Given the description of an element on the screen output the (x, y) to click on. 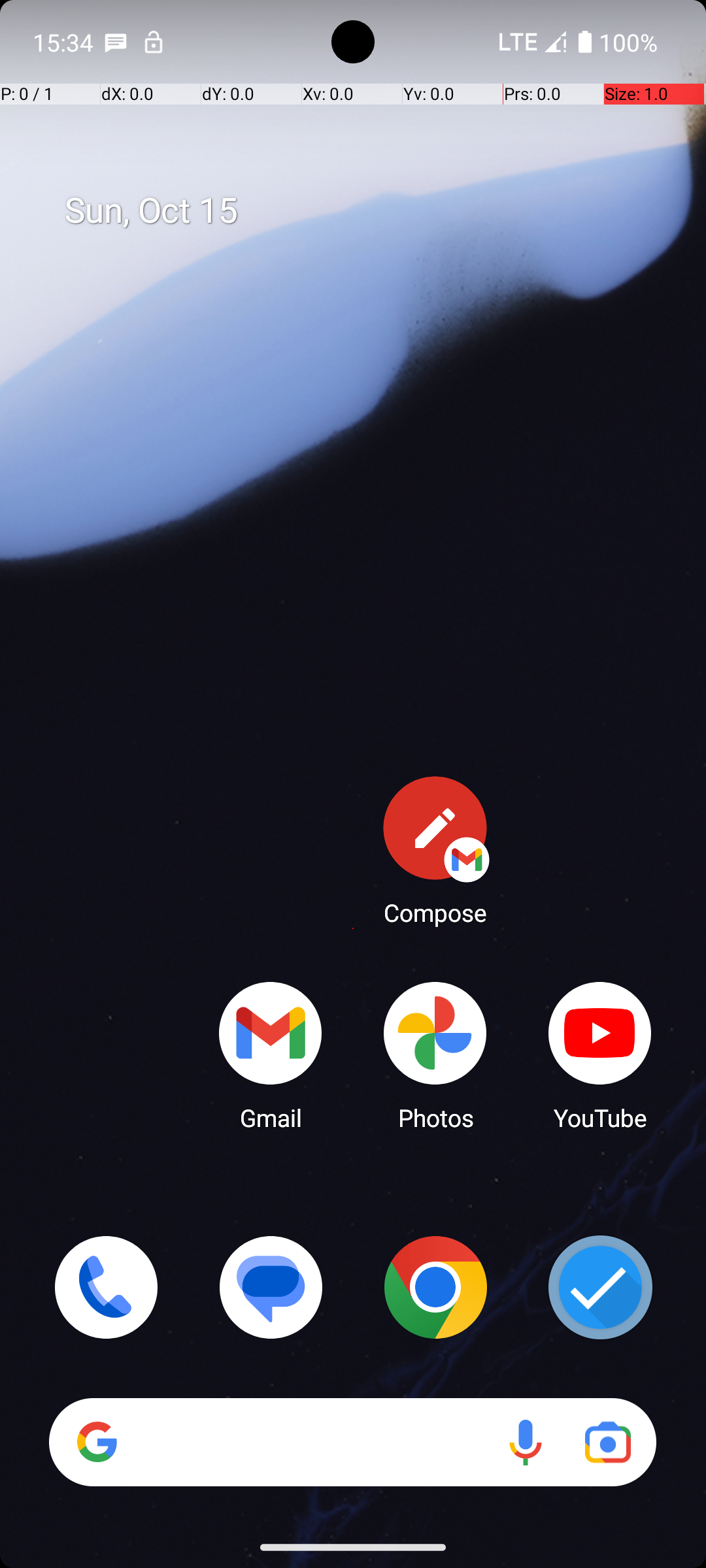
Tasks notification: Connection security Element type: android.widget.ImageView (153, 41)
